Given the description of an element on the screen output the (x, y) to click on. 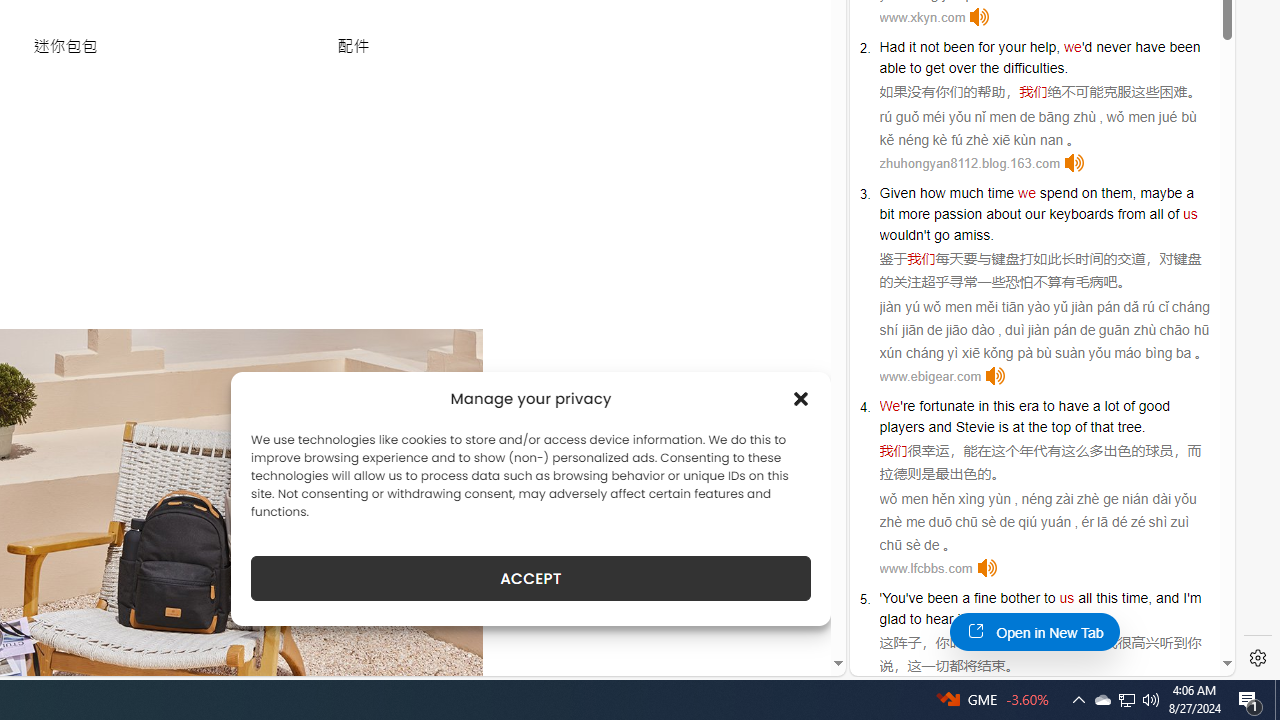
of (1173, 213)
your (1012, 46)
the (989, 67)
Class: flickity-button-icon (437, 561)
this (1106, 597)
We (890, 405)
